Given the description of an element on the screen output the (x, y) to click on. 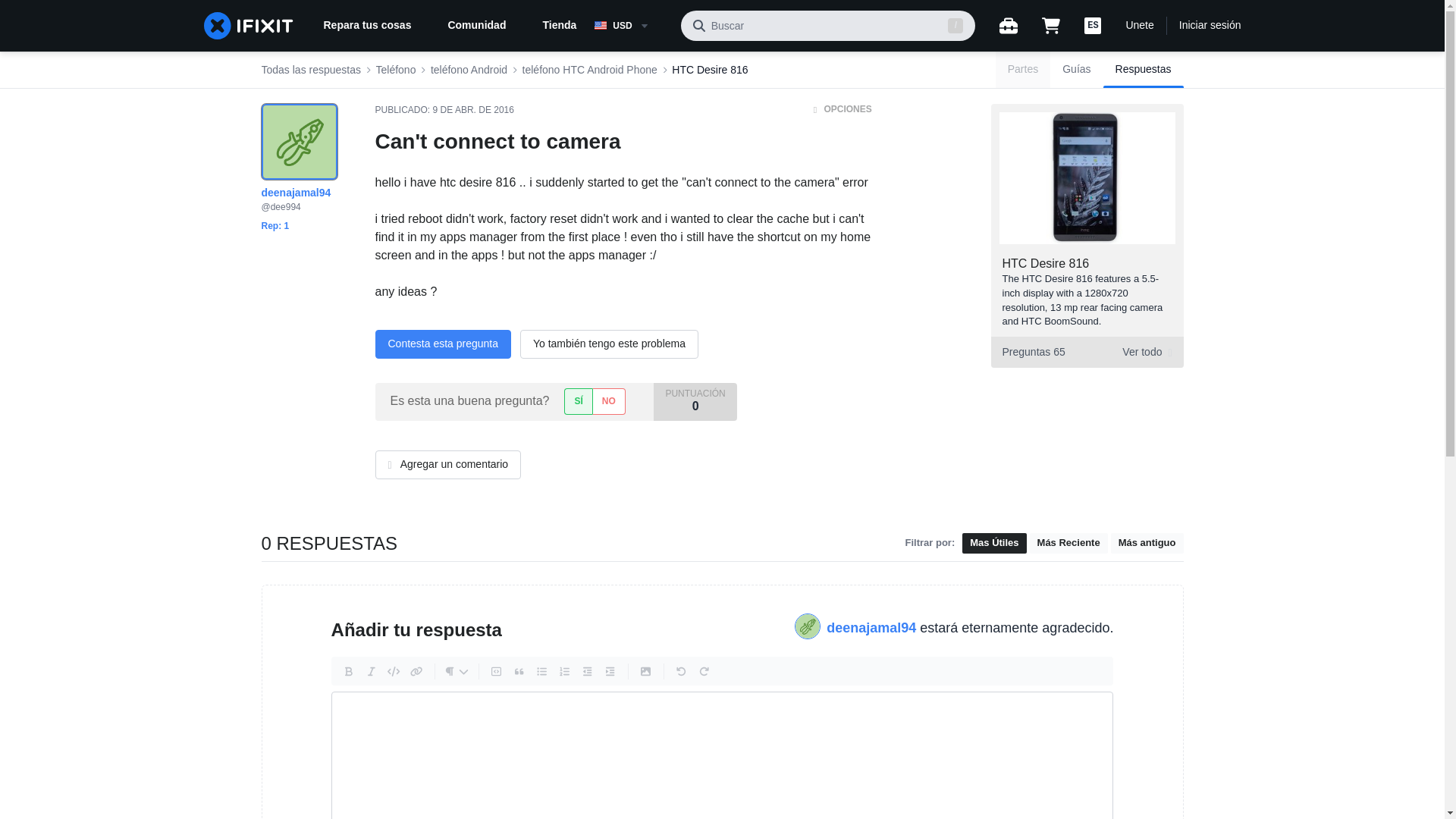
Sat, 09 Apr 2016 09:47:47 -0700 (472, 109)
Unete (1139, 25)
PUBLICADO: 9 DE ABR. DE 2016 (443, 109)
HTC Desire 816 (709, 69)
Todas las respuestas (310, 69)
USD (1086, 351)
Respuestas (631, 25)
Contesta esta pregunta (1143, 69)
HTC Desire 816 (442, 344)
